Given the description of an element on the screen output the (x, y) to click on. 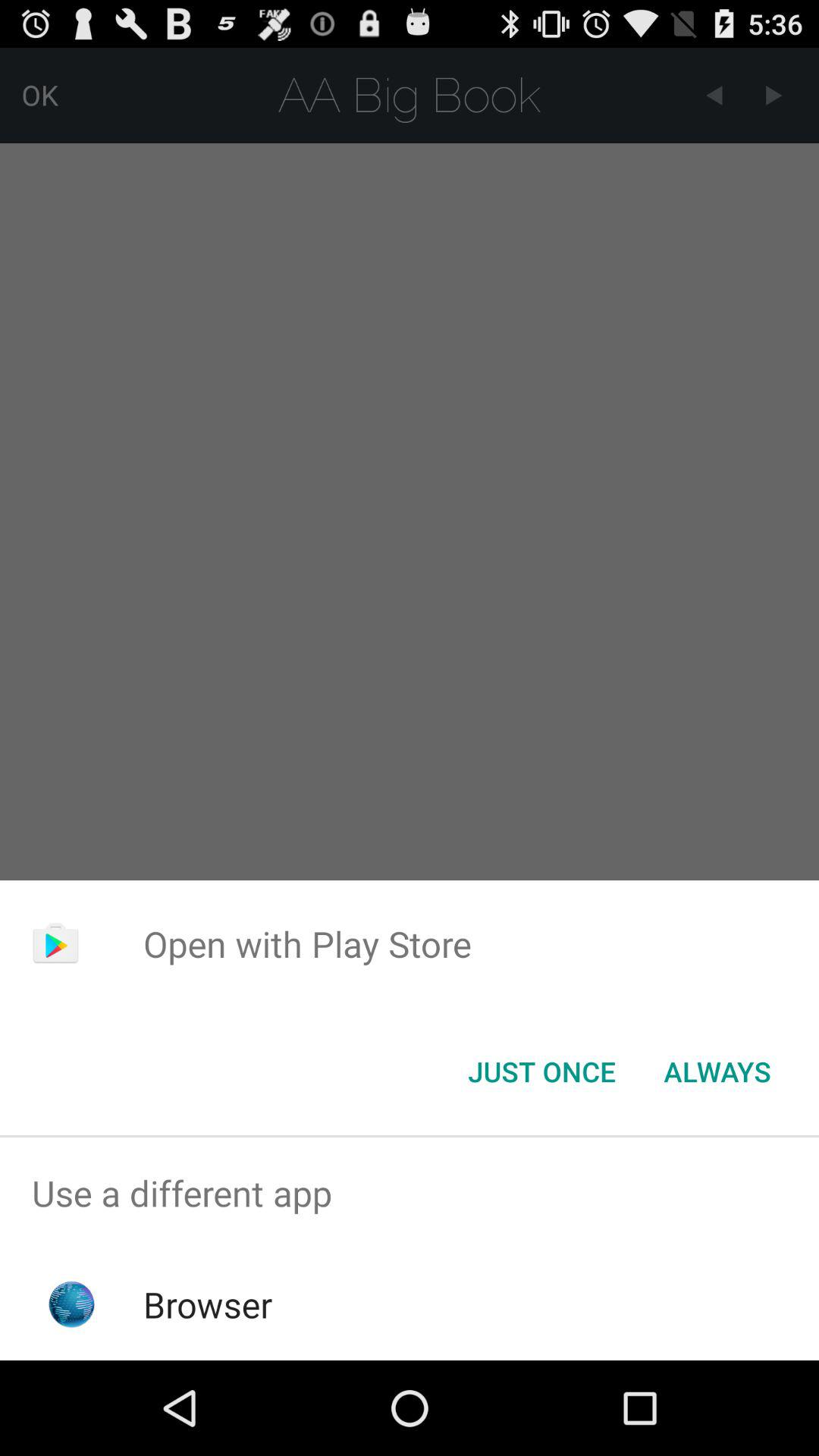
choose the item below open with play (717, 1071)
